Given the description of an element on the screen output the (x, y) to click on. 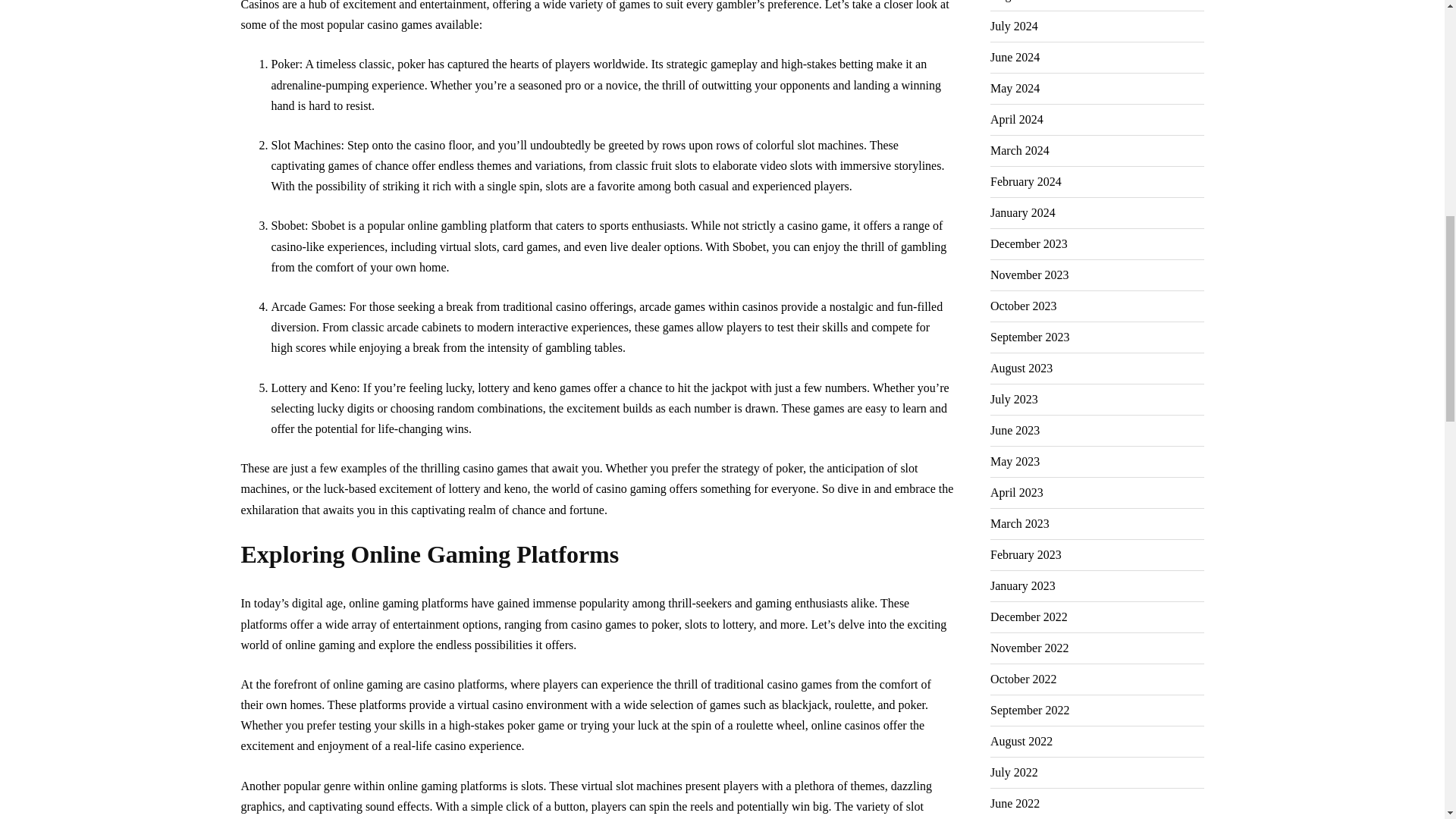
May 2024 (1014, 88)
February 2024 (1025, 182)
August 2024 (1021, 5)
November 2023 (1029, 275)
December 2023 (1028, 244)
April 2024 (1016, 119)
March 2024 (1019, 150)
June 2024 (1014, 57)
January 2024 (1022, 213)
July 2024 (1014, 26)
